Given the description of an element on the screen output the (x, y) to click on. 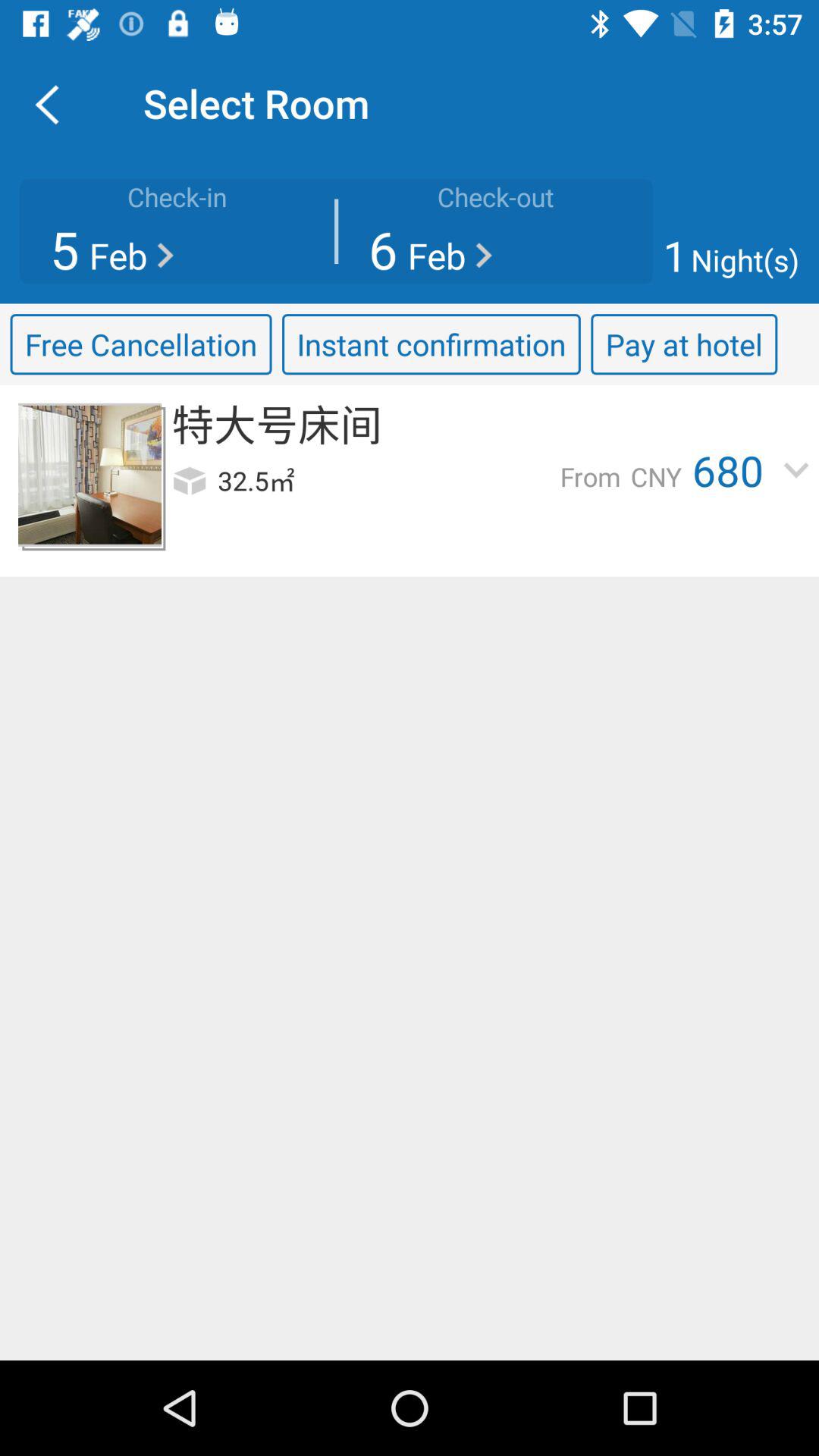
turn on item next to the instant confirmation icon (683, 343)
